Given the description of an element on the screen output the (x, y) to click on. 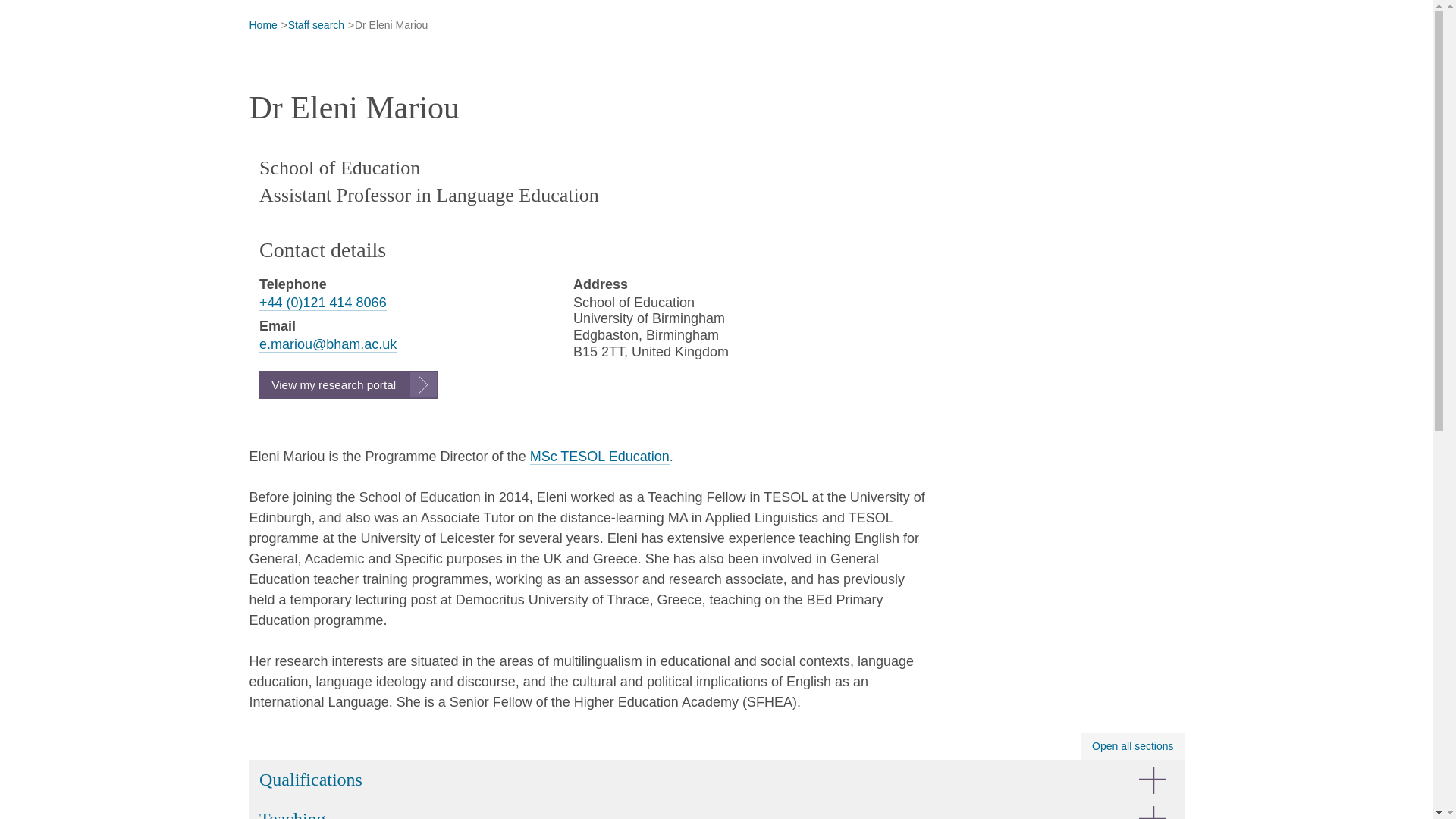
MSc TESOL Education (599, 456)
View my research portal (348, 384)
Dr Eleni Mariou (391, 26)
MSc TESOL Education (599, 456)
Open all sections (1132, 746)
Staff search (315, 26)
Home (262, 26)
